Given the description of an element on the screen output the (x, y) to click on. 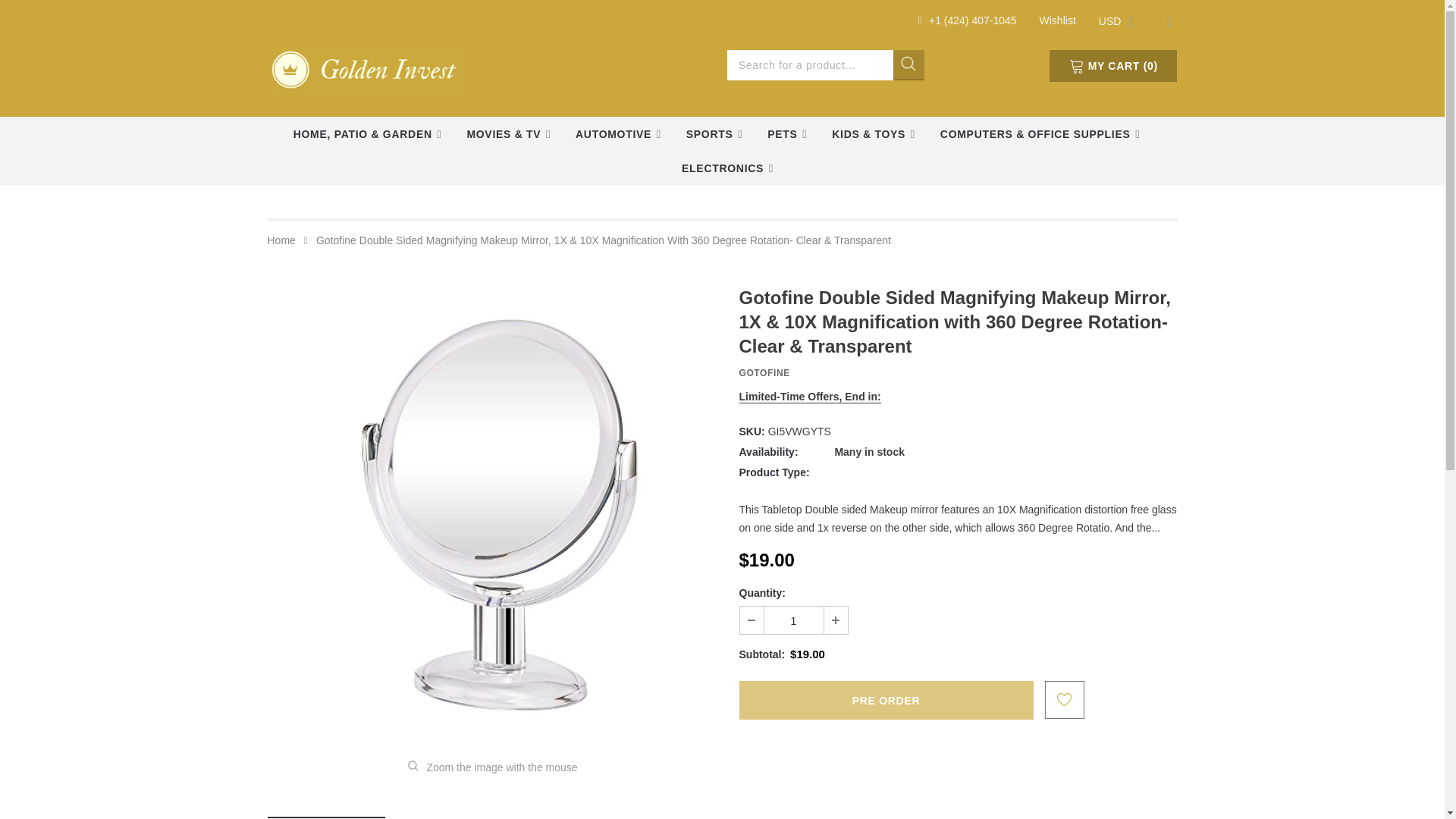
Wishlist (1057, 20)
 Wishlist (1057, 20)
Pre Order (885, 699)
Logo (365, 67)
1 (794, 619)
